Given the description of an element on the screen output the (x, y) to click on. 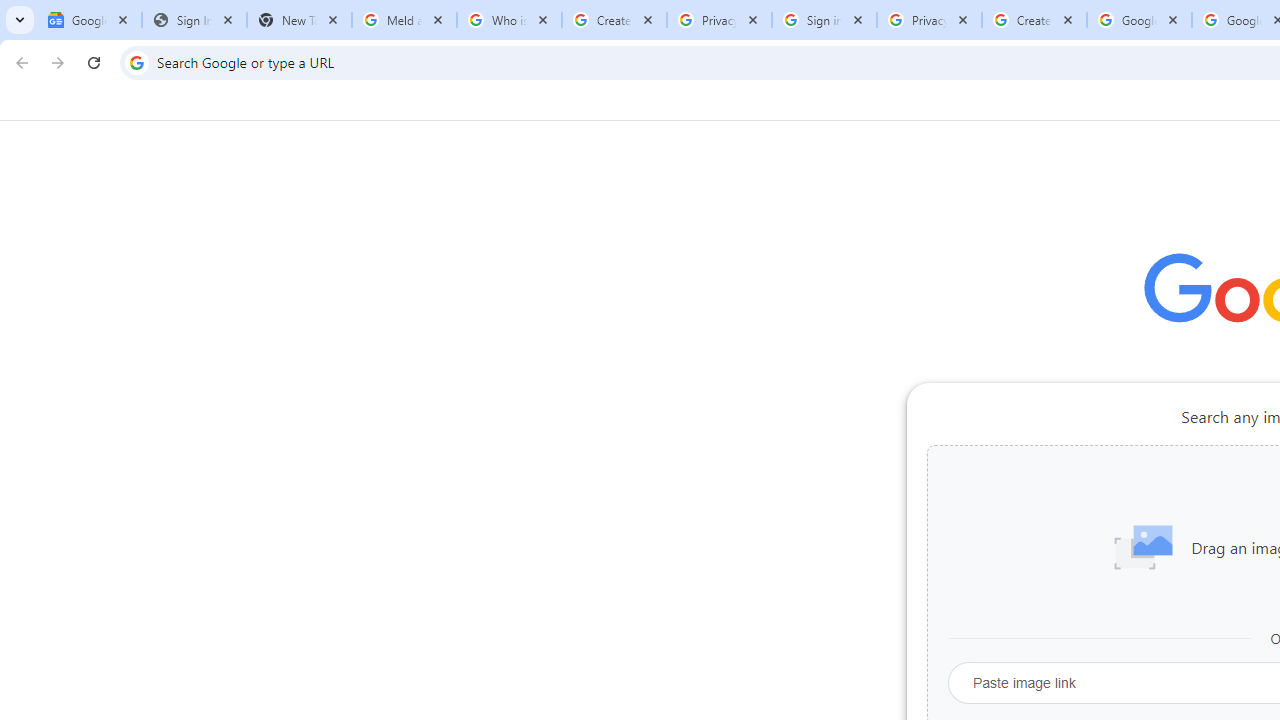
More actions for Chrome Web Store shortcut (1208, 466)
Google News (89, 20)
Sign In - USA TODAY (194, 20)
Create your Google Account (613, 20)
Create your Google Account (1033, 20)
Chrome Web Store (1167, 504)
New Tab (299, 20)
